Given the description of an element on the screen output the (x, y) to click on. 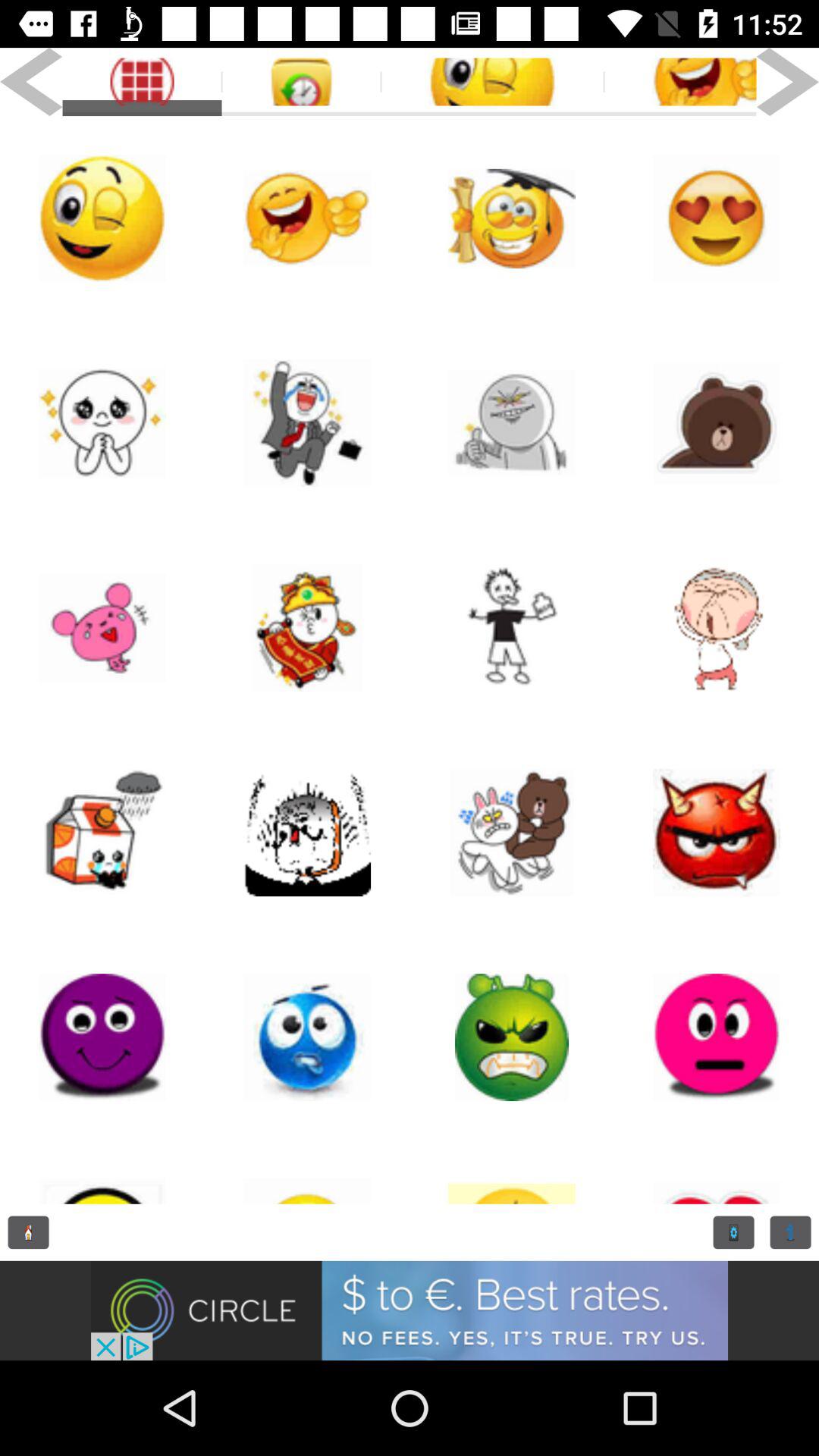
emoji the option (511, 832)
